Given the description of an element on the screen output the (x, y) to click on. 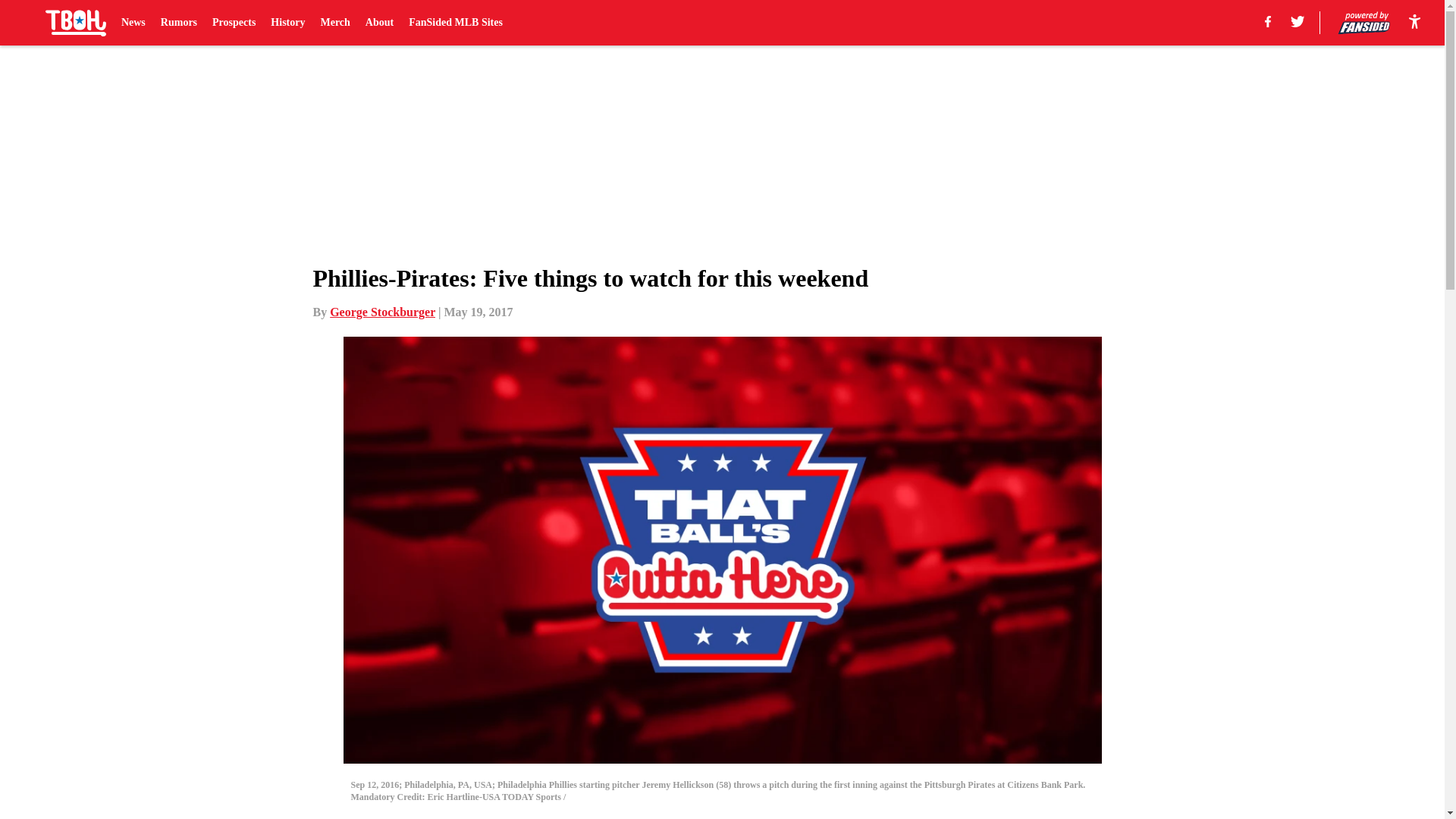
History (287, 22)
Prospects (234, 22)
George Stockburger (382, 311)
FanSided MLB Sites (455, 22)
About (379, 22)
News (132, 22)
Rumors (178, 22)
Merch (334, 22)
